Given the description of an element on the screen output the (x, y) to click on. 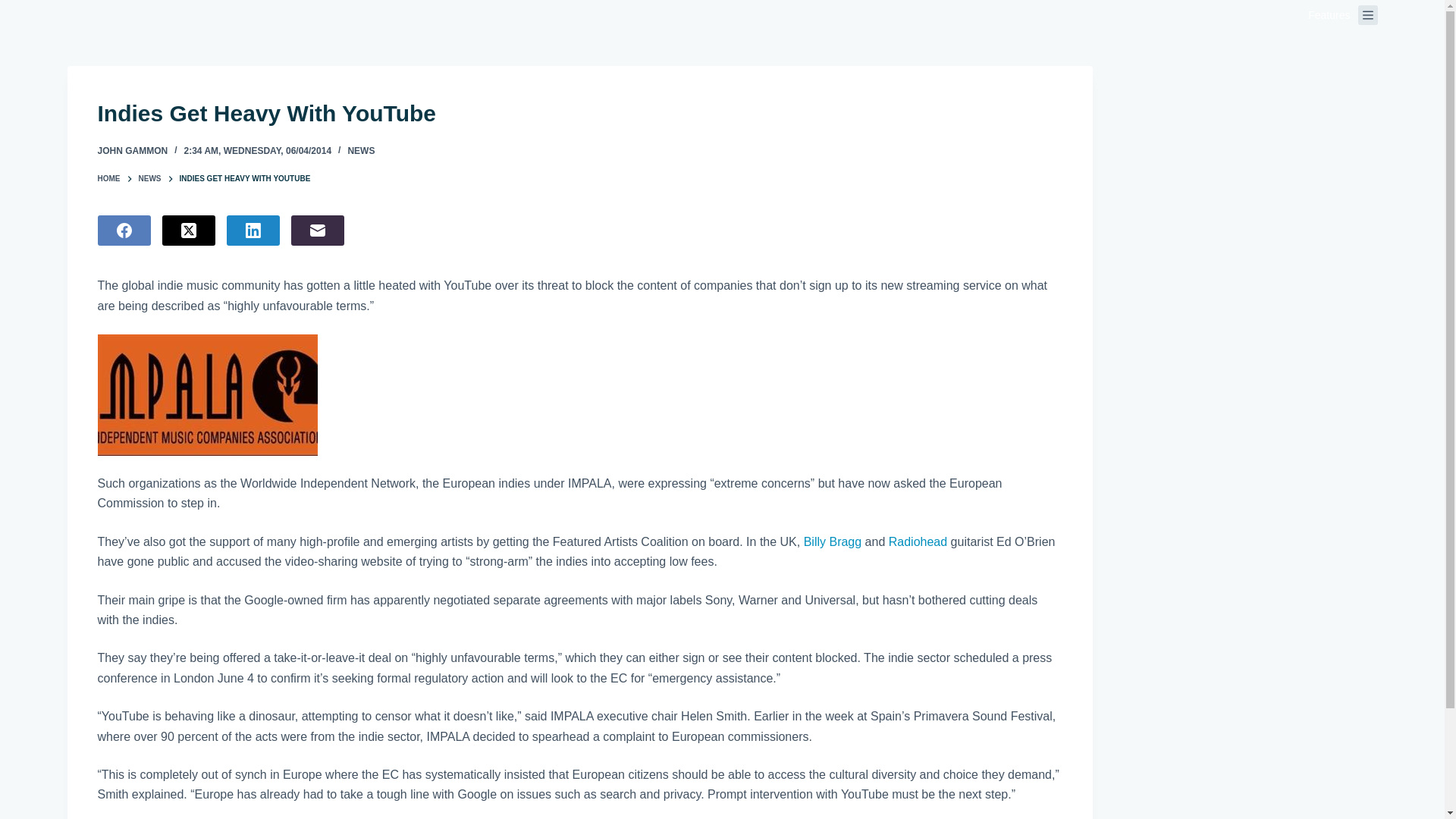
Indies Get Heavy With YouTube (579, 113)
Posts by John Gammon (132, 150)
Skip to content (15, 7)
